Given the description of an element on the screen output the (x, y) to click on. 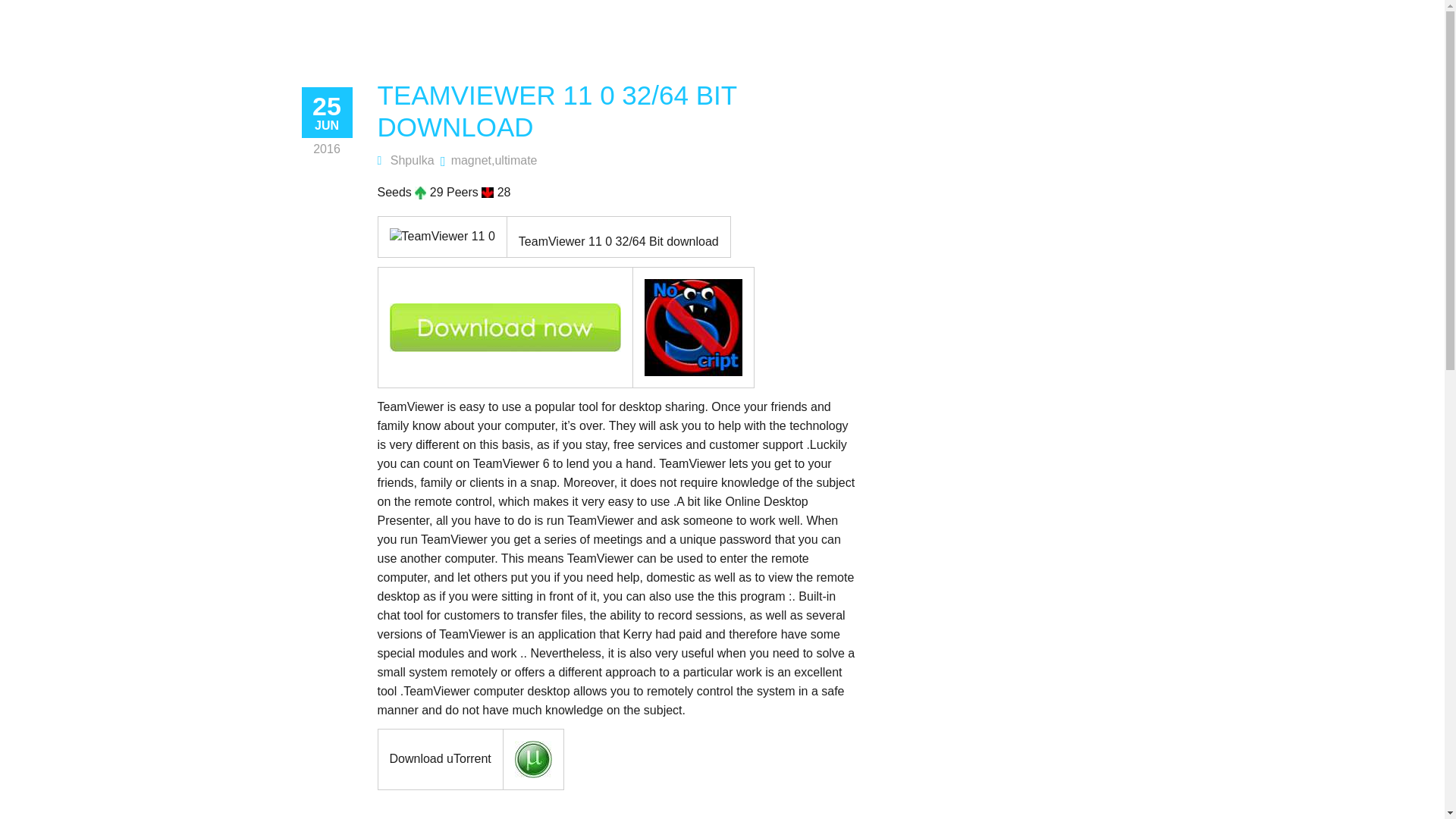
magnet,ultimate (494, 160)
